Given the description of an element on the screen output the (x, y) to click on. 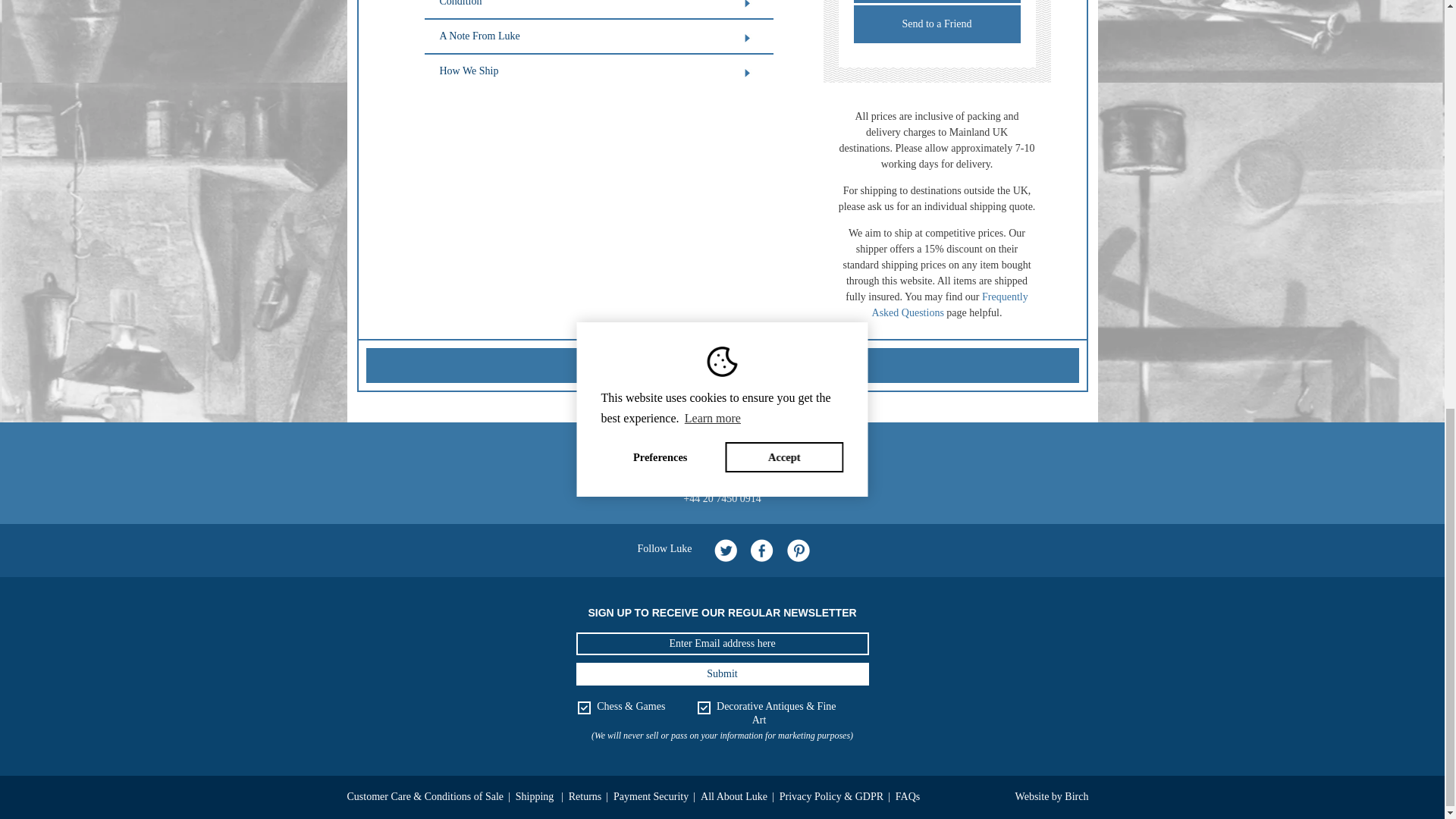
Submit (722, 673)
Facebook (762, 549)
Make an Enquiry (936, 1)
Frequently Asked Questions (949, 304)
Enter Email address here (722, 643)
Submit (722, 673)
Back to Top (721, 365)
Twitter (725, 549)
Send to a Friend (936, 23)
Pinterest (798, 549)
